Given the description of an element on the screen output the (x, y) to click on. 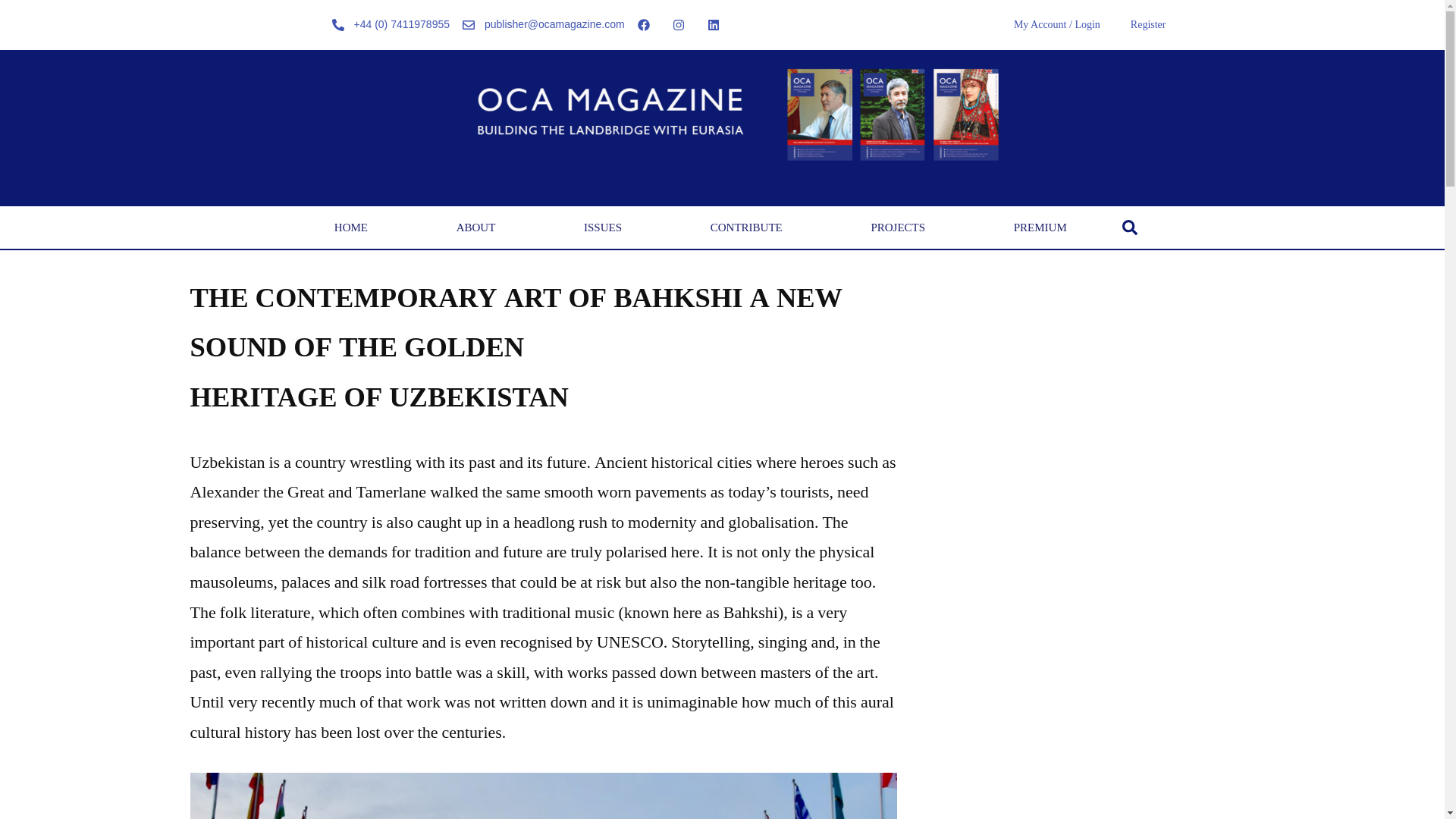
Register (1147, 24)
CONTRIBUTE (746, 227)
PREMIUM (1039, 227)
PROJECTS (898, 227)
HOME (350, 227)
ISSUES (603, 227)
ABOUT (475, 227)
